Given the description of an element on the screen output the (x, y) to click on. 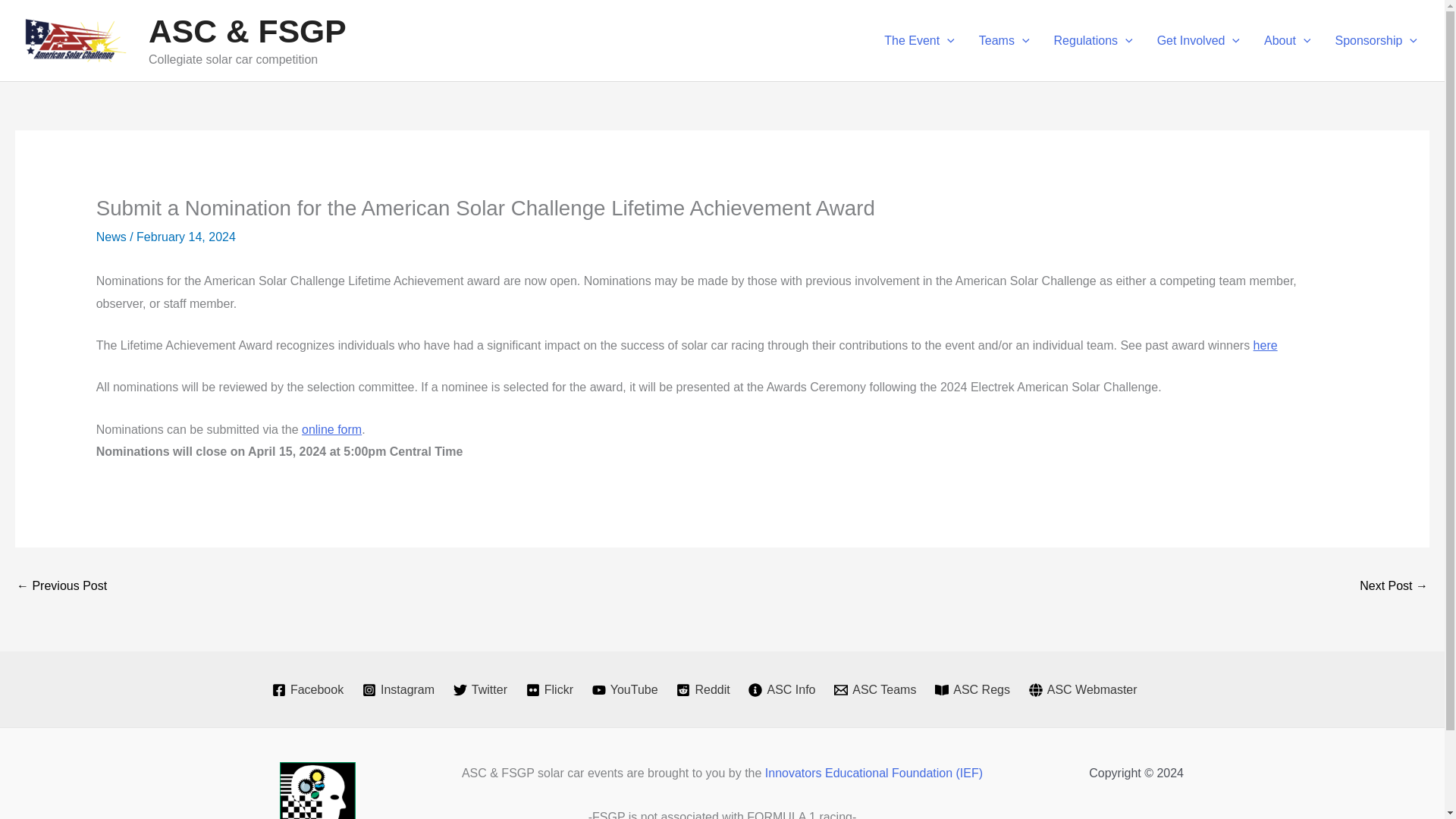
Sponsorship (1375, 40)
About (1287, 40)
Get Involved (1198, 40)
Be an Observer at ASC 2024! (61, 587)
Regulations (1093, 40)
2024 Route Stops Announced (1393, 587)
The Event (919, 40)
Teams (1004, 40)
